Given the description of an element on the screen output the (x, y) to click on. 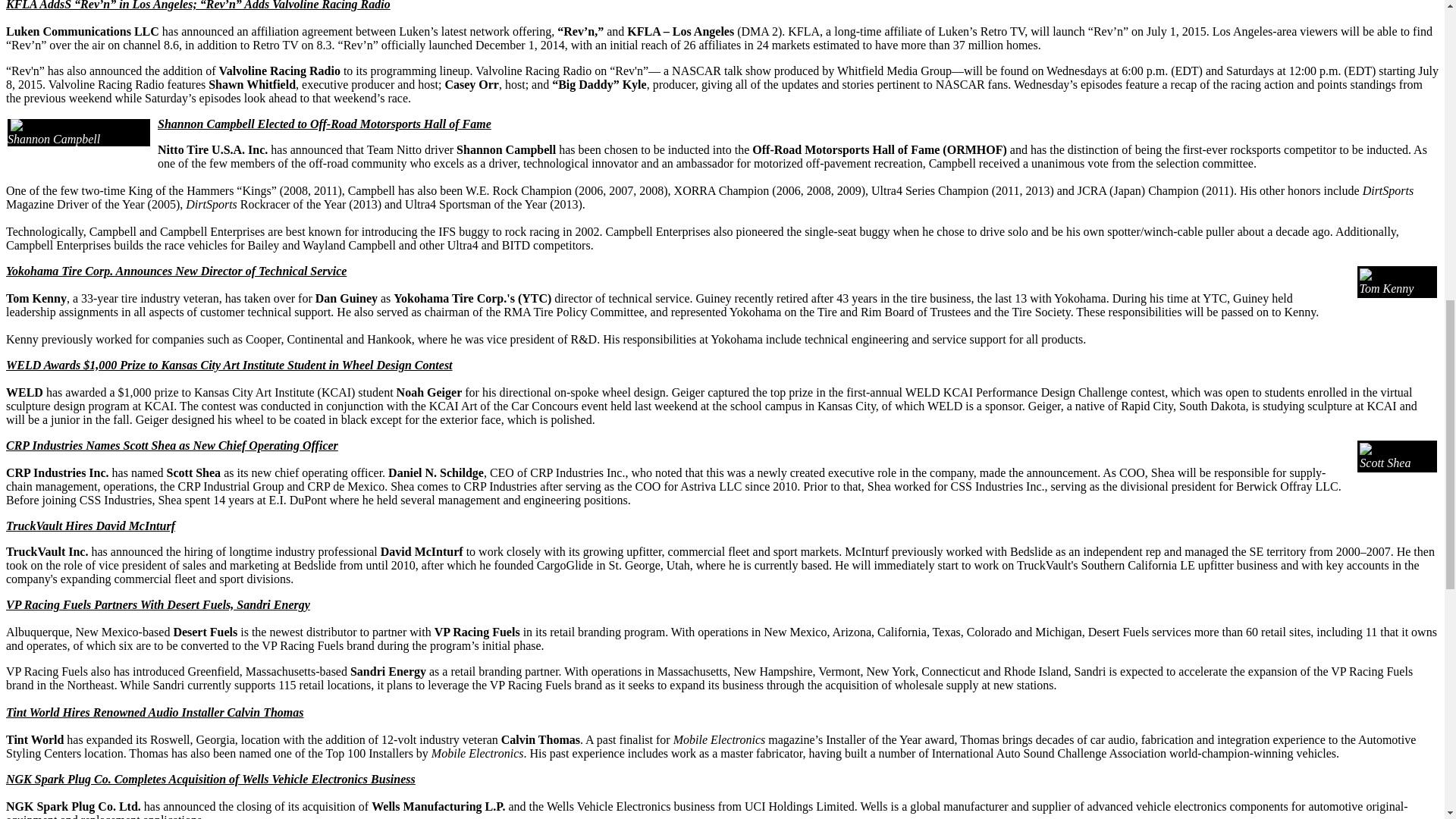
kenny (1379, 274)
shea (1376, 449)
campbell (38, 125)
